Given the description of an element on the screen output the (x, y) to click on. 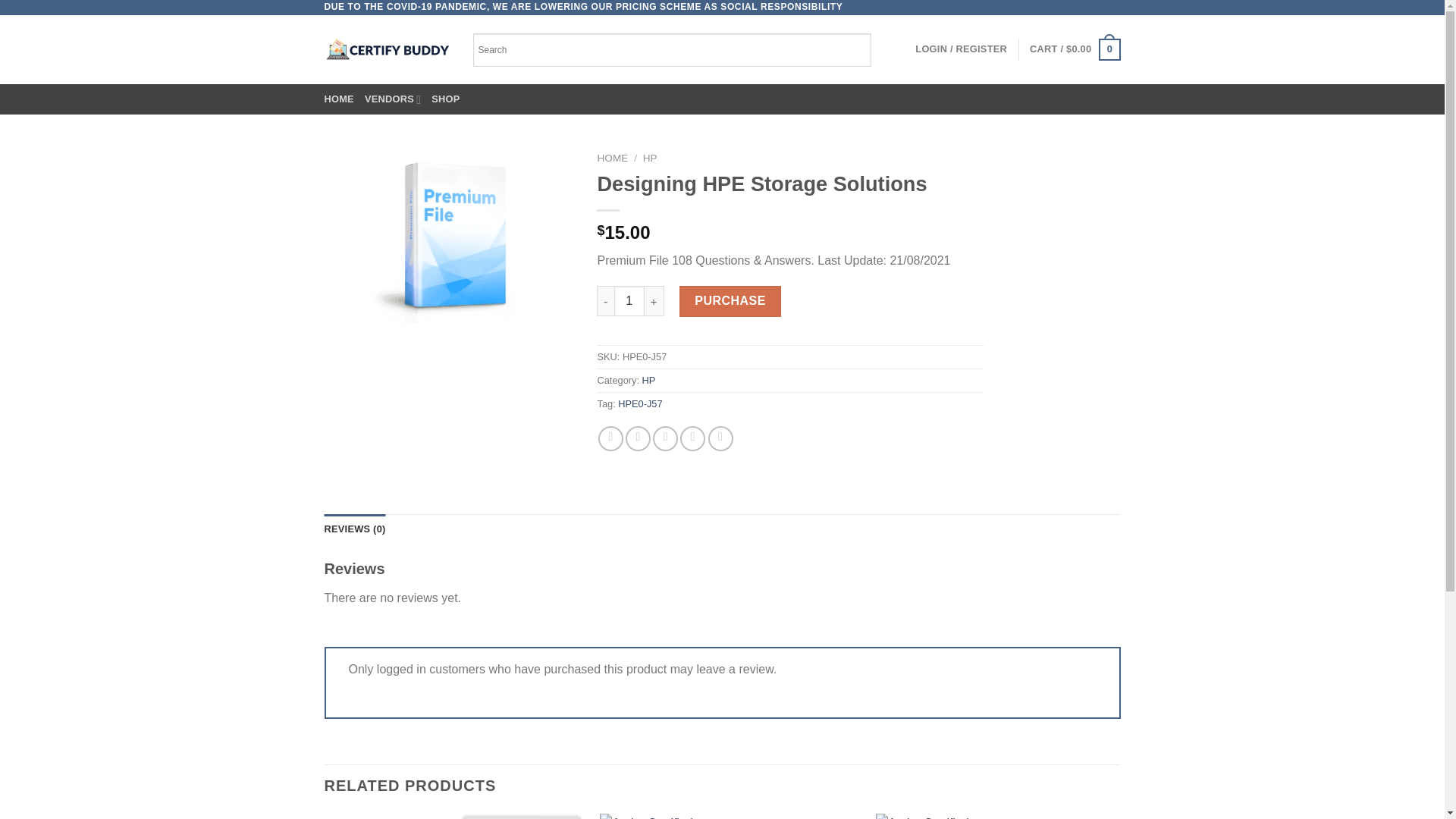
Share on Twitter (638, 438)
HOME (611, 157)
HOME (338, 99)
PURCHASE (729, 300)
Email to a Friend (665, 438)
Pin on Pinterest (691, 438)
1 (629, 300)
Share on LinkedIn (720, 438)
Cart (1074, 49)
VENDORS (392, 99)
